Given the description of an element on the screen output the (x, y) to click on. 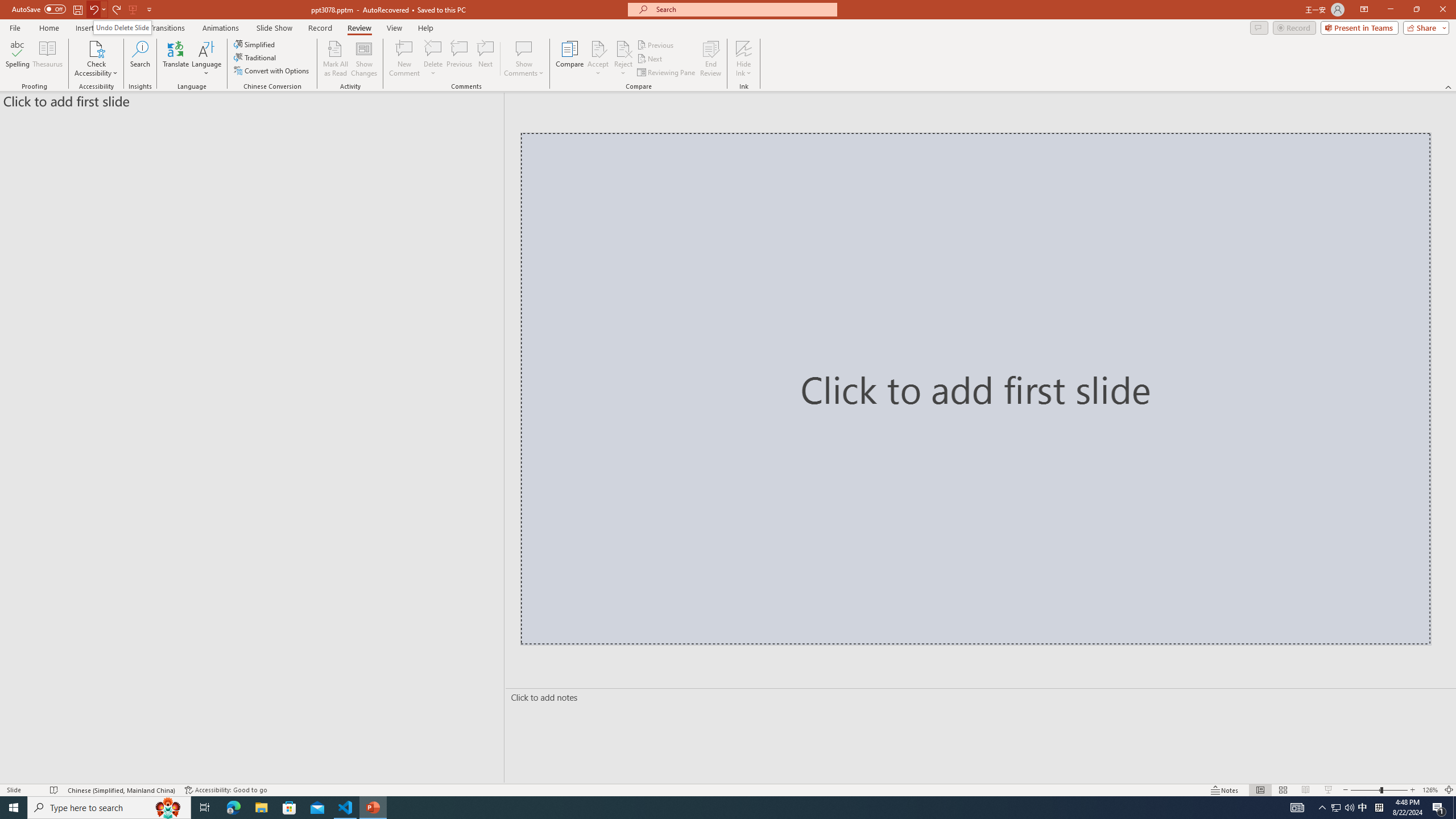
Reject Change (622, 48)
Mark All as Read (335, 58)
Zoom 126% (1430, 790)
